Given the description of an element on the screen output the (x, y) to click on. 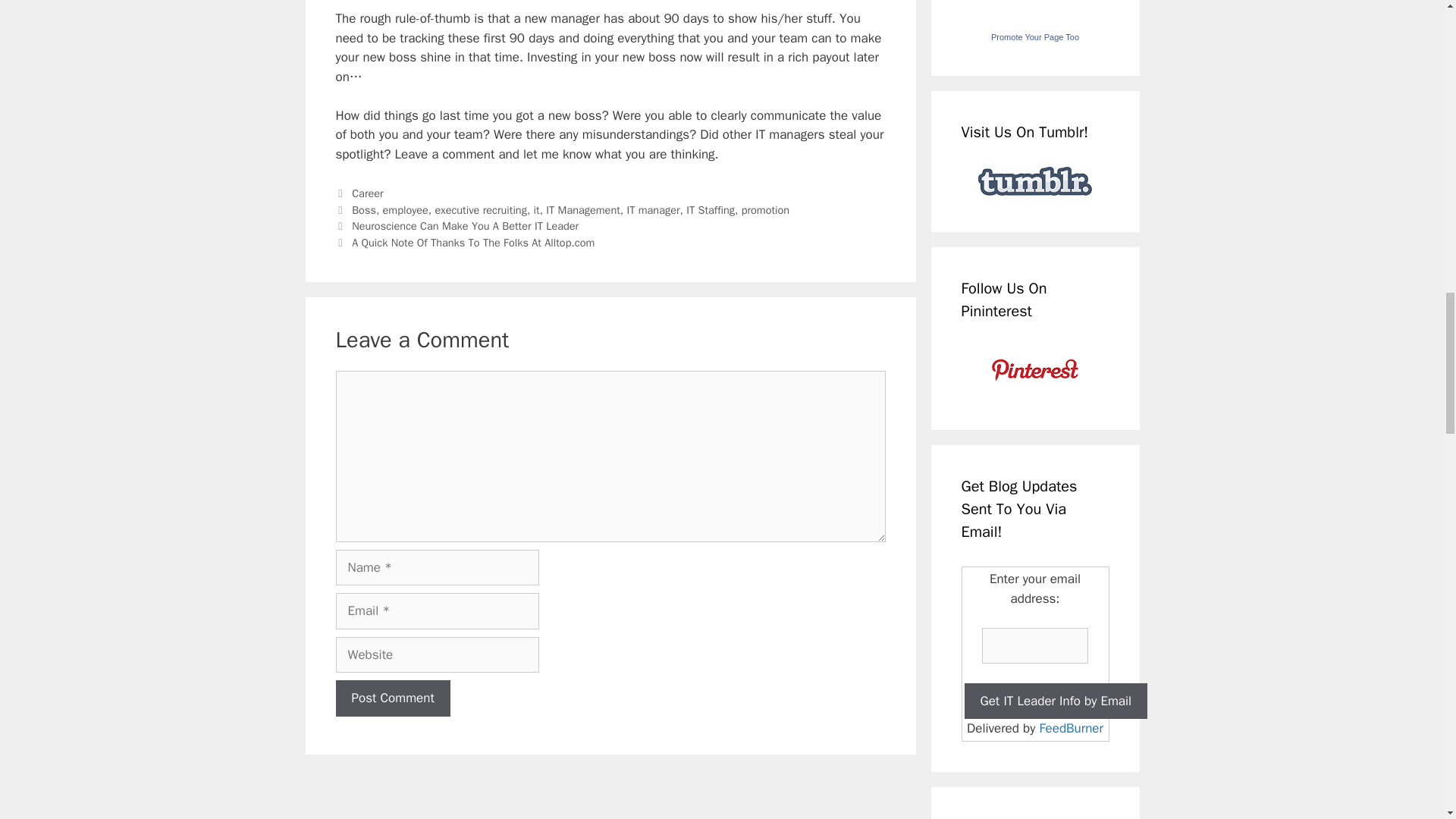
IT Management (583, 210)
promotion (765, 210)
A Quick Note Of Thanks To The Folks At Alltop.com (473, 242)
Get IT Leader Info by Email (1055, 701)
Post Comment (391, 698)
Career (368, 192)
Boss (363, 210)
IT Staffing (710, 210)
Neuroscience Can Make You A Better IT Leader (465, 225)
Post Comment (391, 698)
executive recruiting (481, 210)
employee (405, 210)
IT manager (652, 210)
it (537, 210)
Make your own badge! (1034, 36)
